Given the description of an element on the screen output the (x, y) to click on. 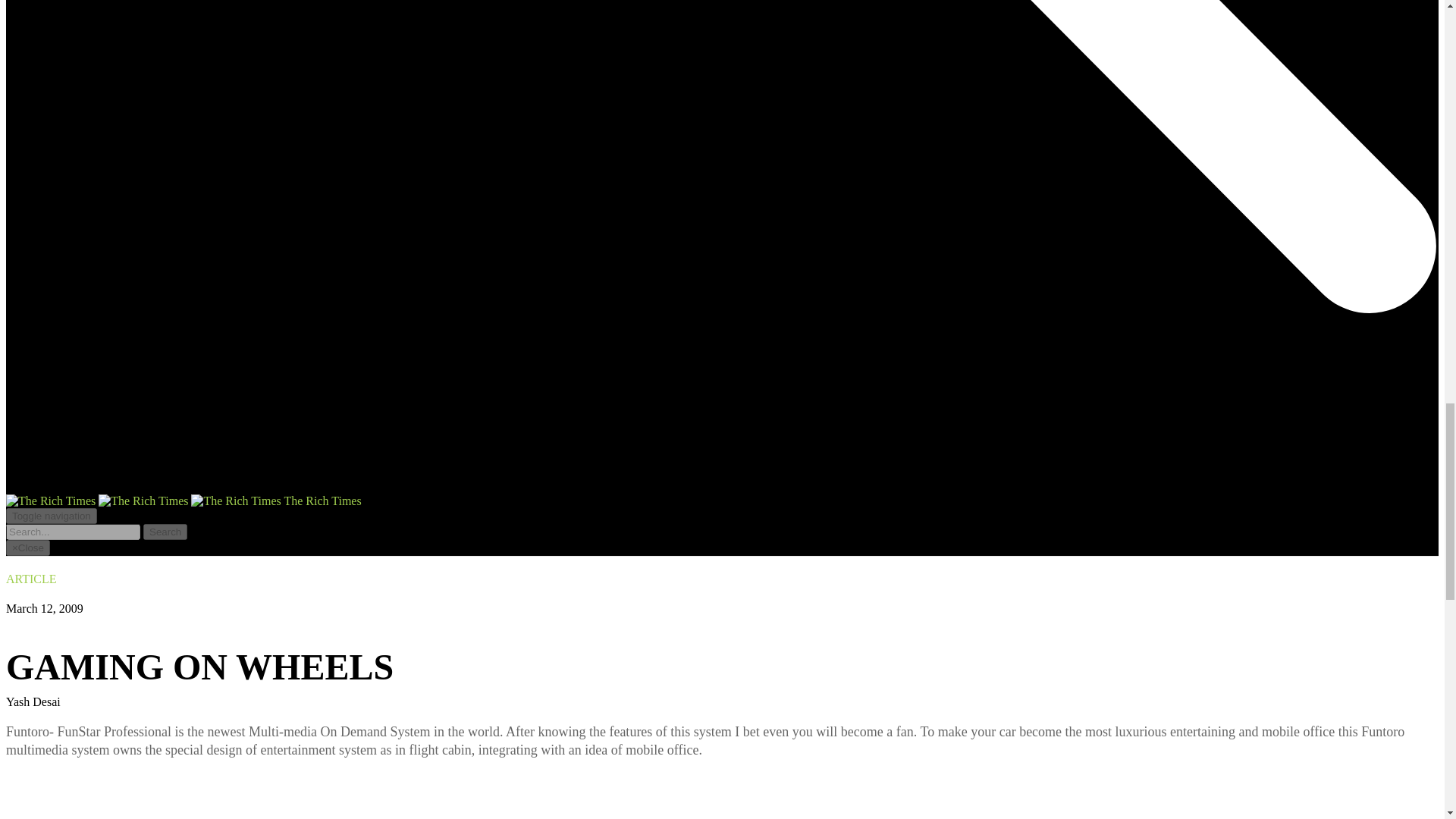
The Rich Times (183, 500)
Search (164, 531)
Search (164, 531)
Toggle navigation (51, 515)
ARTICLE (30, 578)
Search (164, 531)
